Given the description of an element on the screen output the (x, y) to click on. 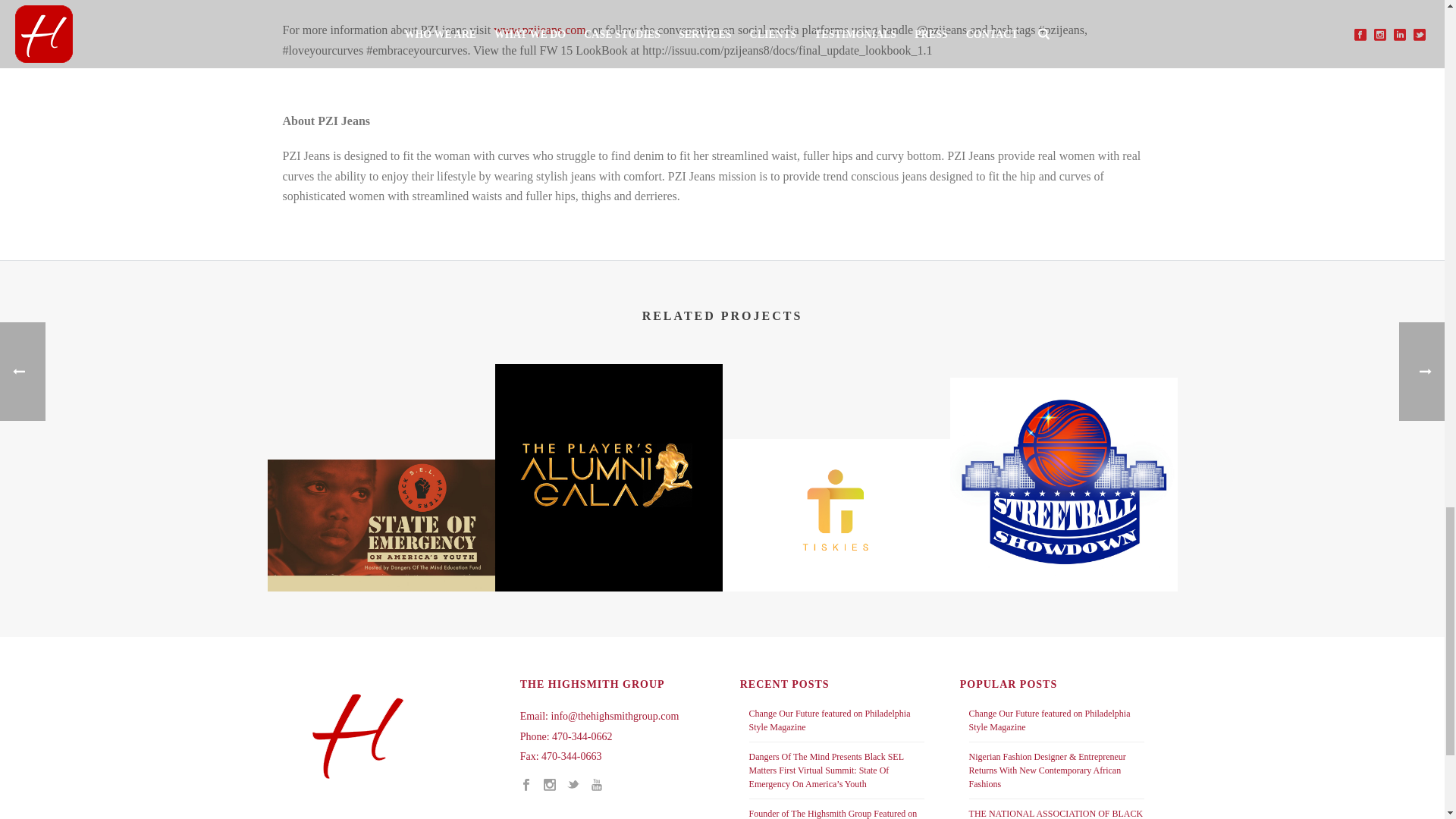
www.pzijeans.com (539, 29)
